Given the description of an element on the screen output the (x, y) to click on. 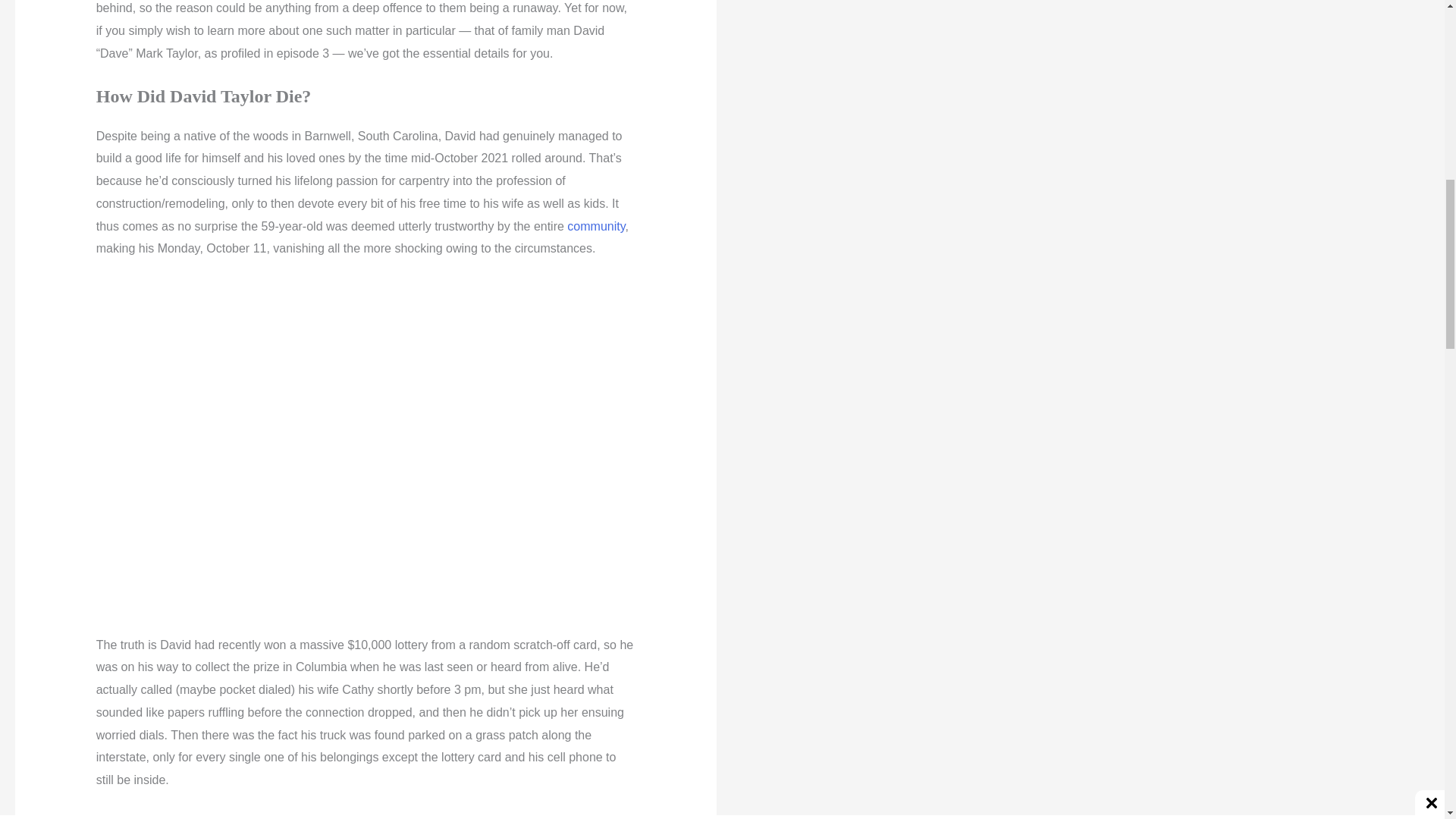
community (595, 226)
